Given the description of an element on the screen output the (x, y) to click on. 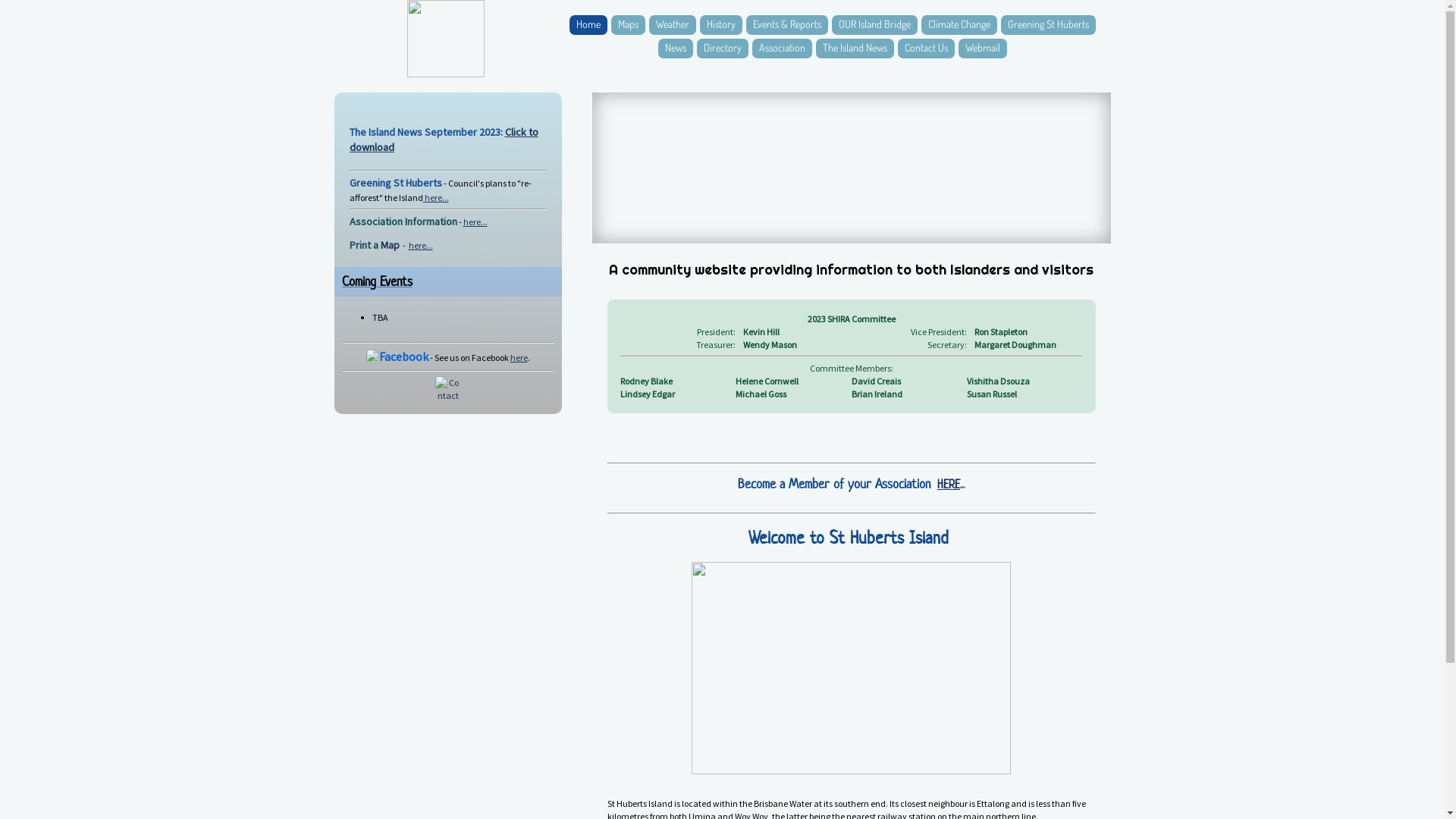
Maps Element type: text (628, 24)
Home Element type: text (587, 24)
Events & Reports Element type: text (787, 24)
Weather Element type: text (672, 24)
Greening St Huberts Element type: text (1048, 24)
The Island News Element type: text (854, 48)
OUR Island Bridge Element type: text (873, 24)
Webmail Element type: text (982, 48)
History Element type: text (720, 24)
here... Element type: text (474, 221)
 here... Element type: text (435, 197)
Click to download Element type: text (442, 139)
Climate Change Element type: text (958, 24)
Contact Us Element type: text (925, 48)
here... Element type: text (419, 245)
Directory Element type: text (721, 48)
here Element type: text (518, 357)
Association Element type: text (782, 48)
Coming Events Element type: text (376, 281)
HERE Element type: text (948, 484)
News Element type: text (675, 48)
